Given the description of an element on the screen output the (x, y) to click on. 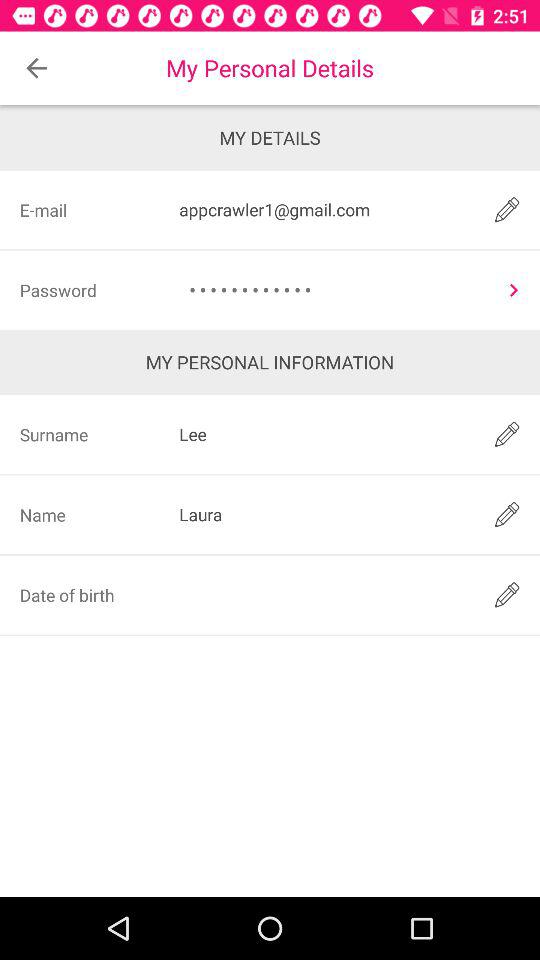
edit option (506, 434)
